Given the description of an element on the screen output the (x, y) to click on. 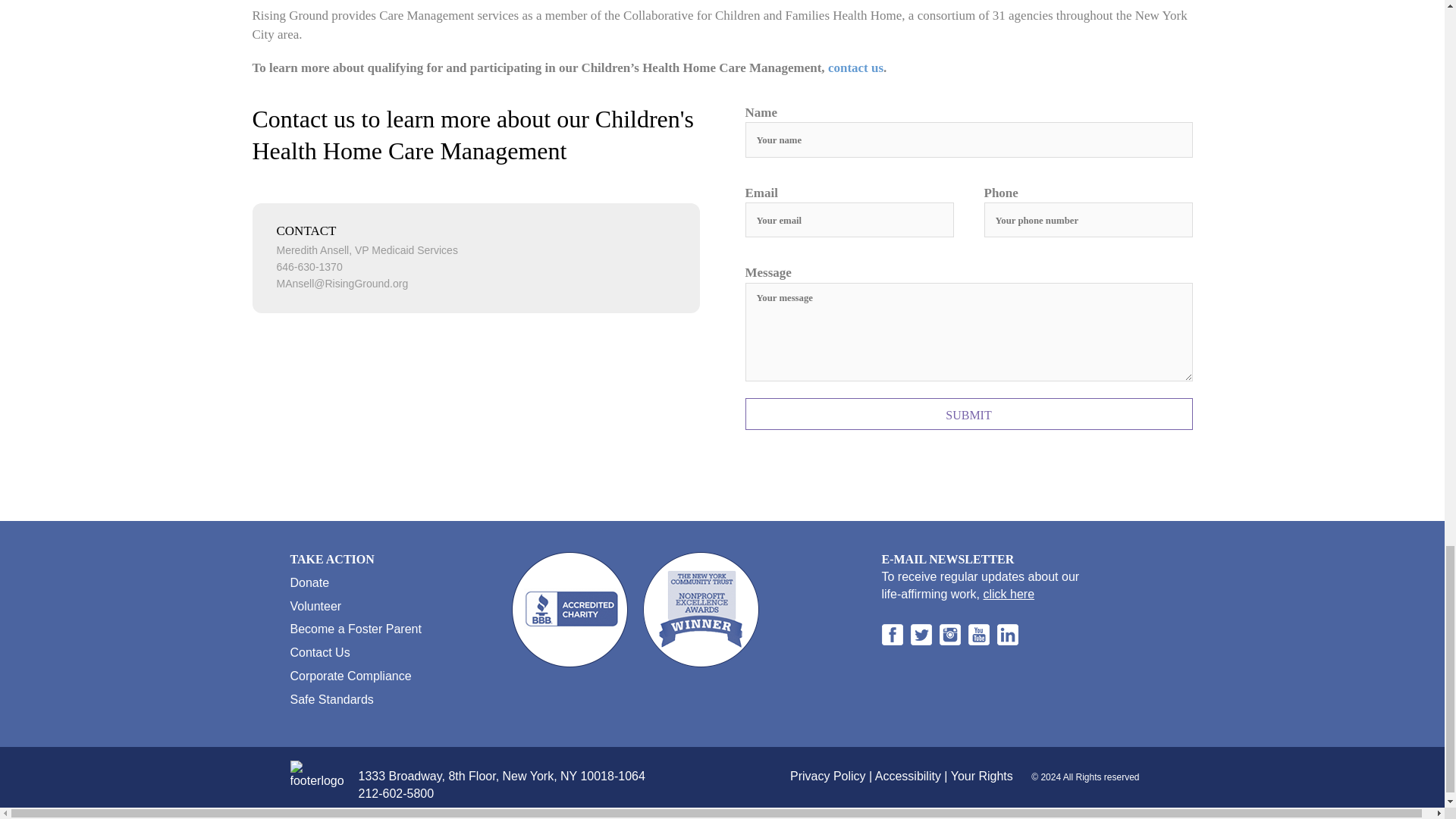
Submit (968, 413)
